Given the description of an element on the screen output the (x, y) to click on. 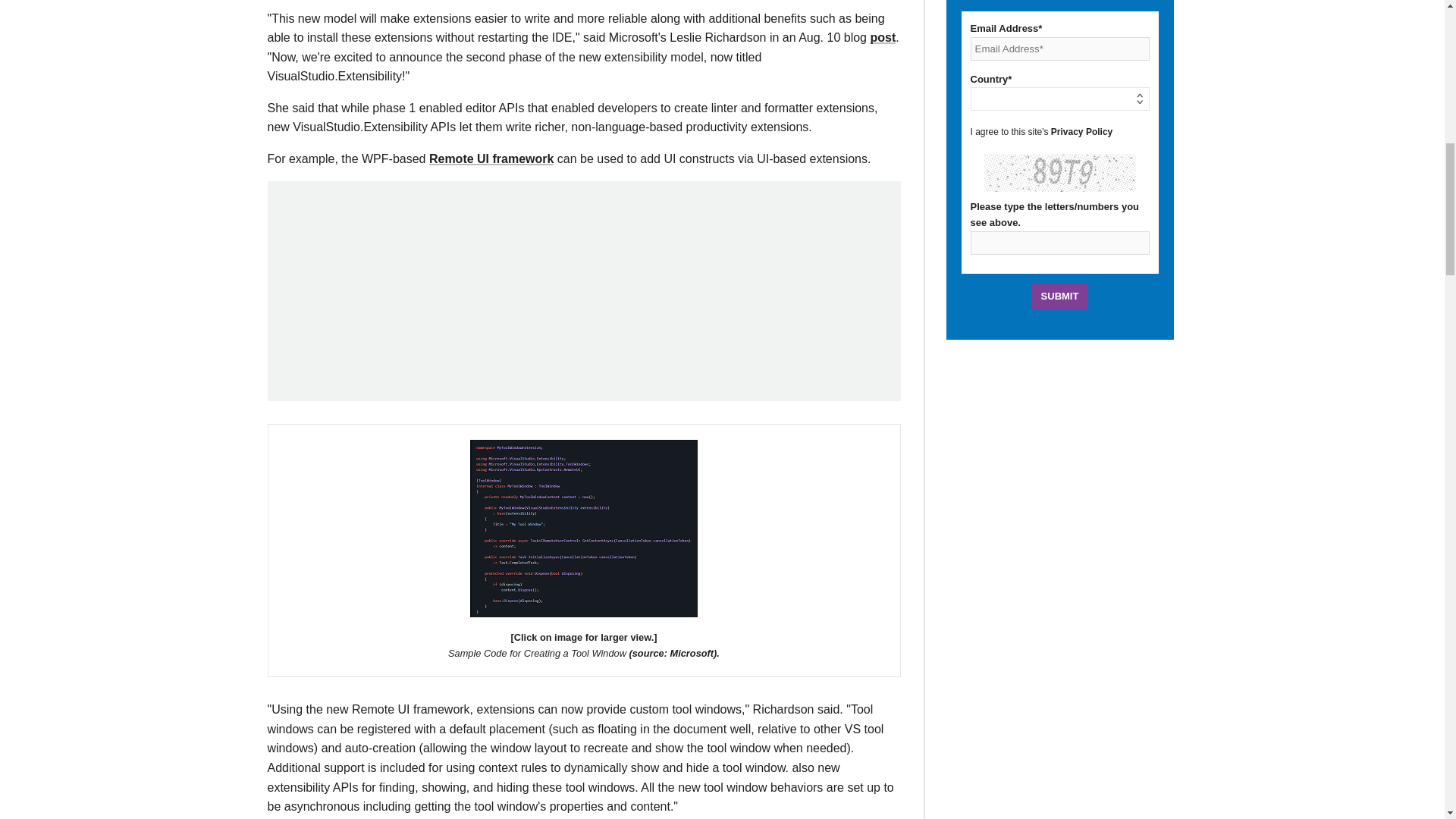
Submit (1059, 295)
3rd party ad content (583, 290)
